Given the description of an element on the screen output the (x, y) to click on. 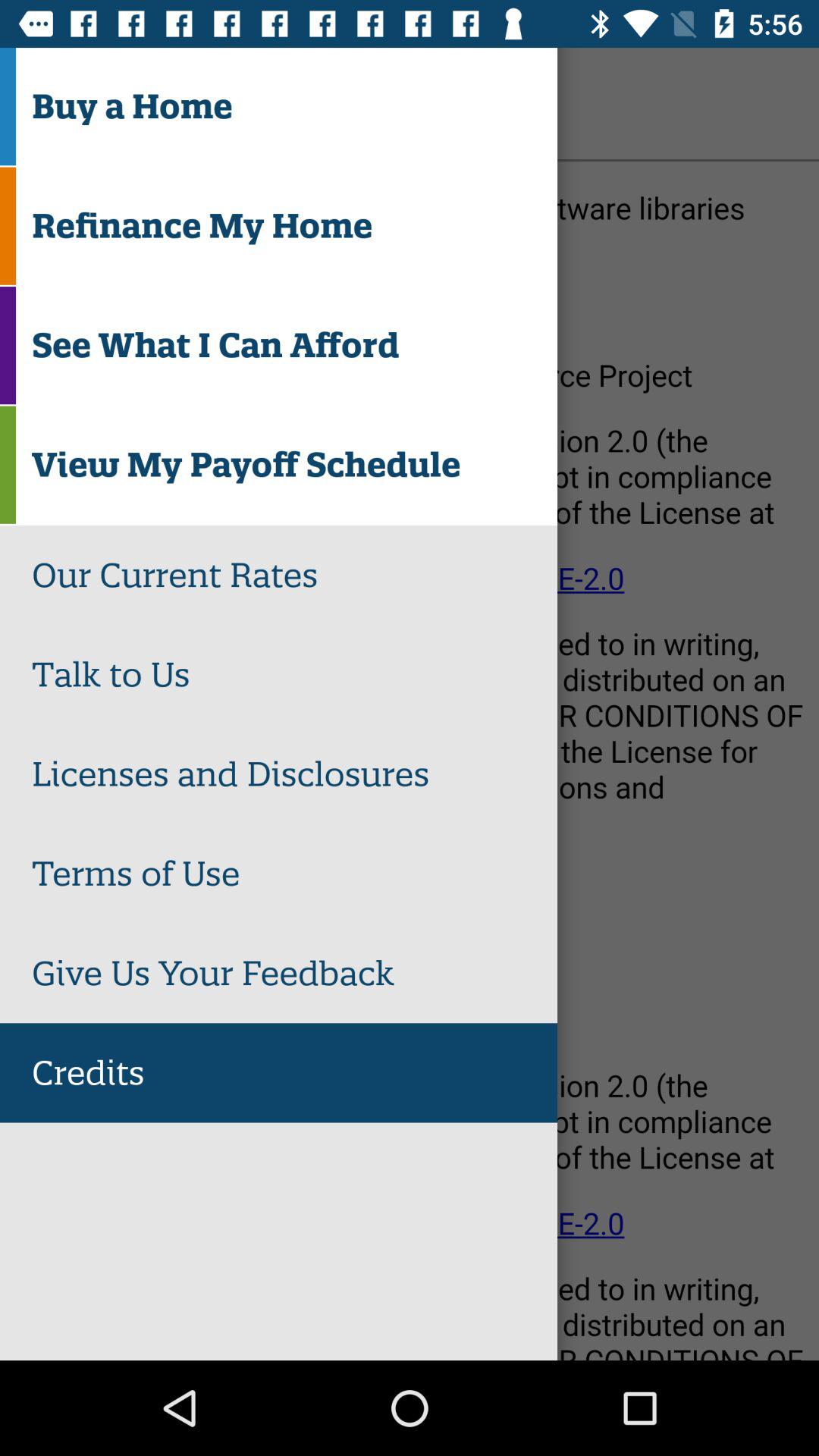
flip until terms of use (294, 873)
